Given the description of an element on the screen output the (x, y) to click on. 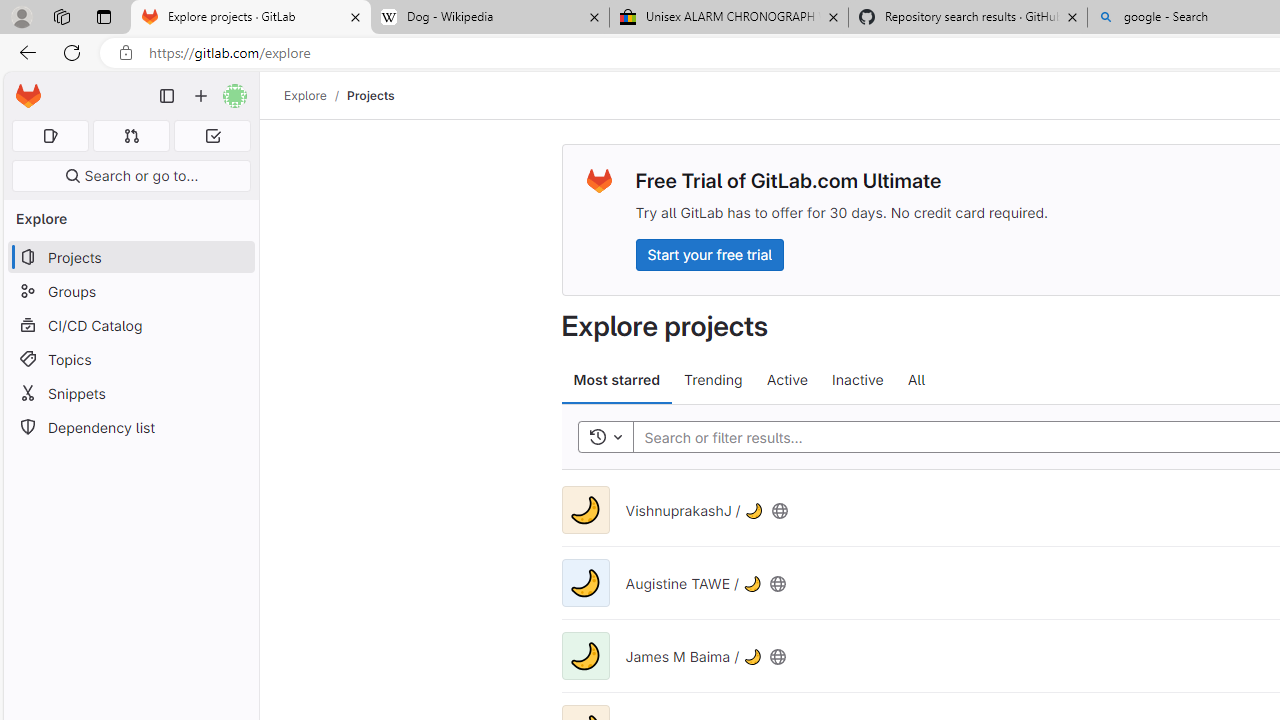
Explore/ (316, 95)
To-Do list 0 (212, 136)
Topics (130, 358)
Class: s16 (778, 656)
Snippets (130, 393)
Dog - Wikipedia (490, 17)
CI/CD Catalog (130, 325)
Dependency list (130, 427)
Snippets (130, 393)
Topics (130, 358)
Merge requests 0 (131, 136)
